Given the description of an element on the screen output the (x, y) to click on. 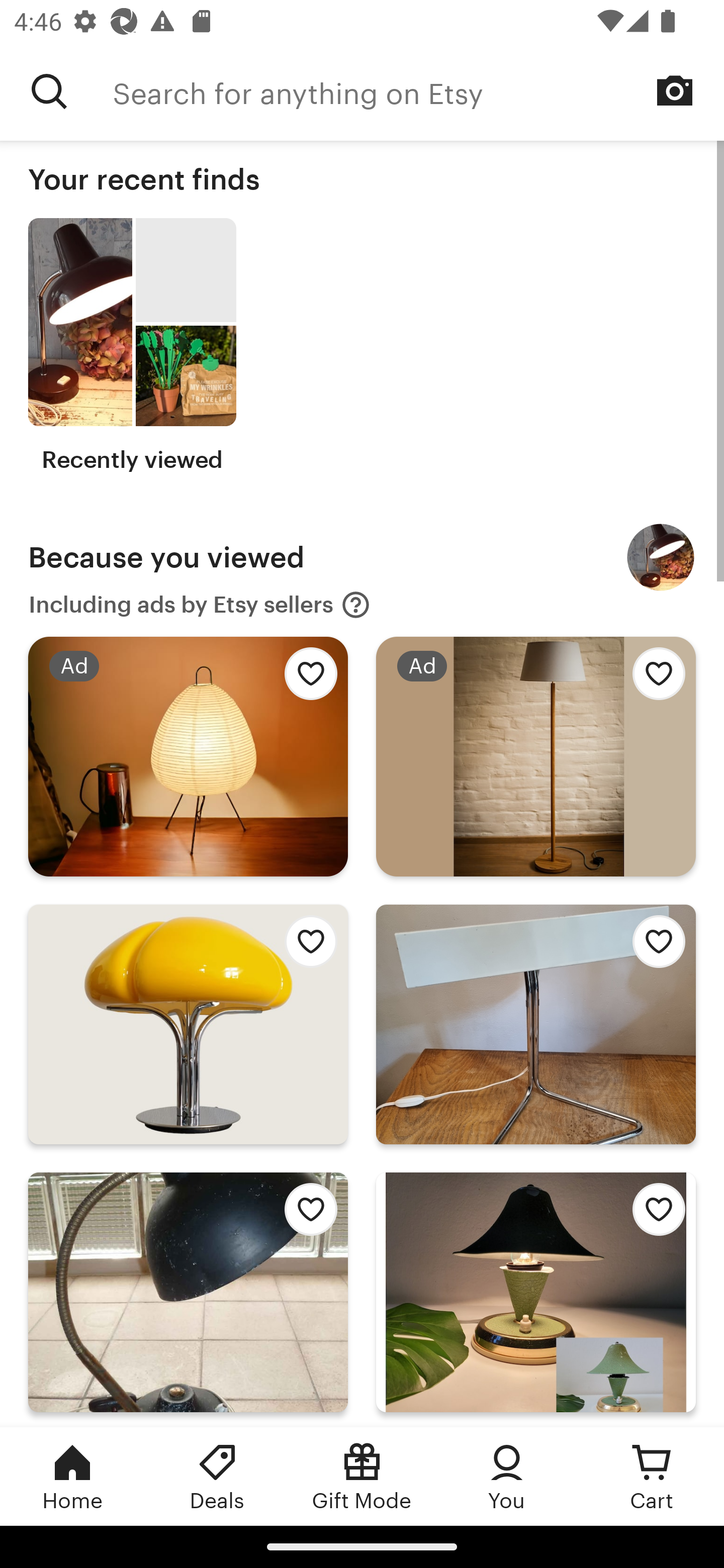
Search for anything on Etsy (49, 91)
Search by image (674, 90)
Search for anything on Etsy (418, 91)
Recently viewed (132, 345)
Vintage desk lamp table lamp (660, 556)
Including ads by Etsy sellers (199, 604)
Add Vintage desk lamp BAUHAUS 40s 50s to favorites (653, 946)
Add Vintage desk lamp - 1960's to favorites (305, 1214)
Deals (216, 1475)
Gift Mode (361, 1475)
You (506, 1475)
Cart (651, 1475)
